Given the description of an element on the screen output the (x, y) to click on. 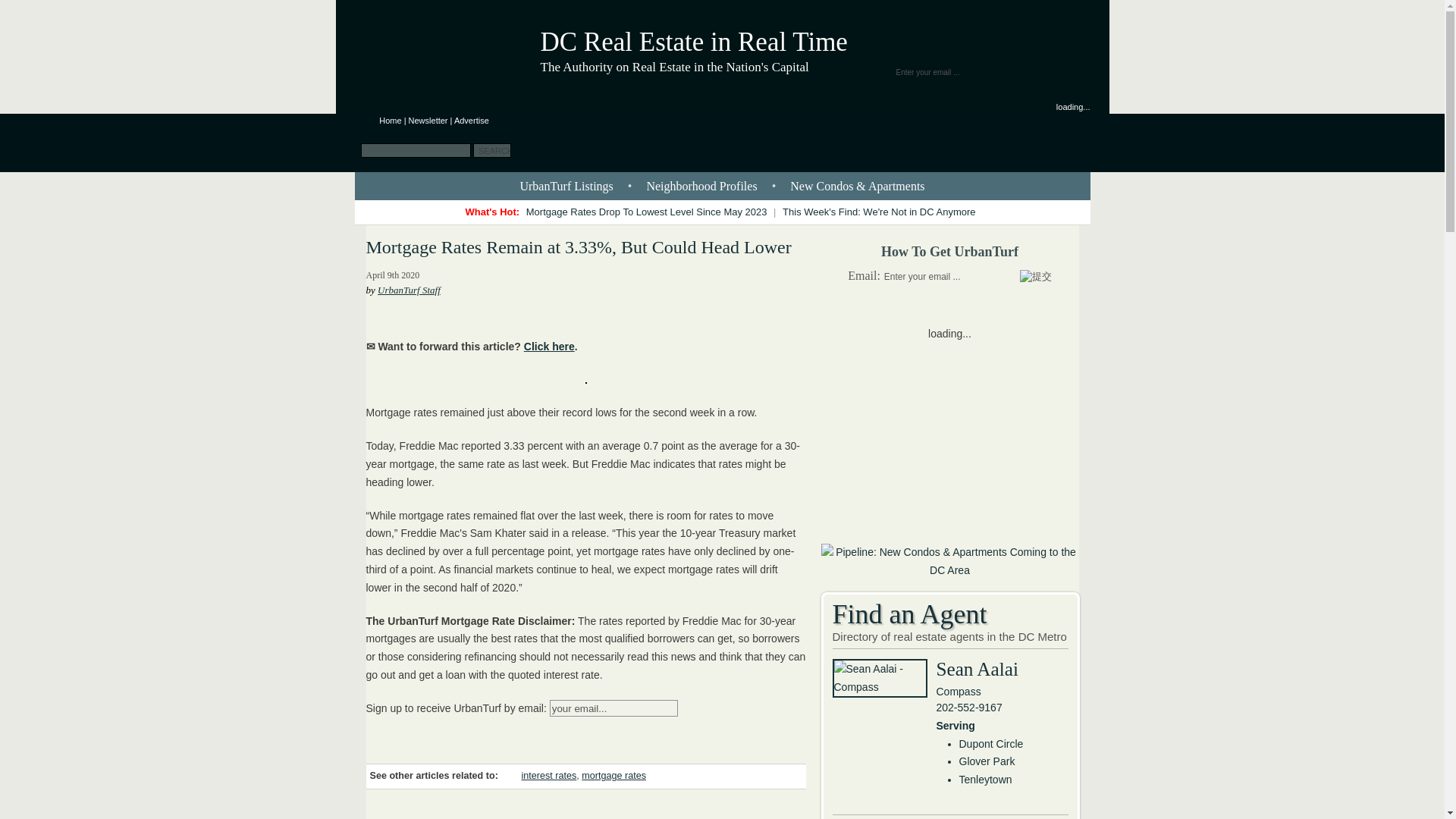
Advertise on UrbanTurf (471, 120)
UrbanTurf Staff (409, 289)
UrbanTurf Staff (409, 289)
Click here (549, 346)
mortgage rates (613, 775)
Home (389, 120)
This Week's Find: We're Not in DC Anymore (878, 211)
UrbanTurf (389, 120)
your email... (614, 708)
Newsletter (428, 120)
